Given the description of an element on the screen output the (x, y) to click on. 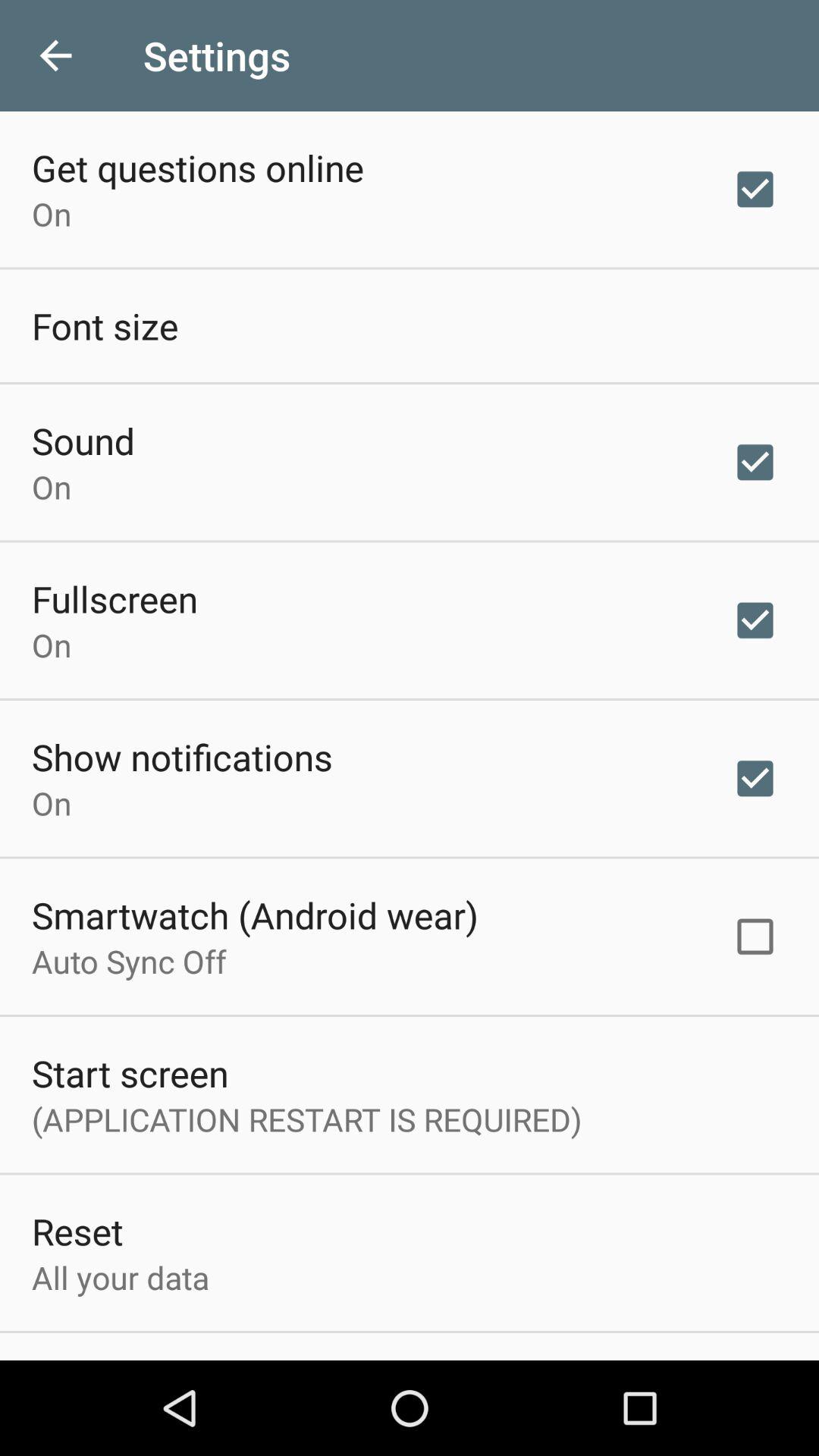
turn off fullscreen icon (114, 598)
